Given the description of an element on the screen output the (x, y) to click on. 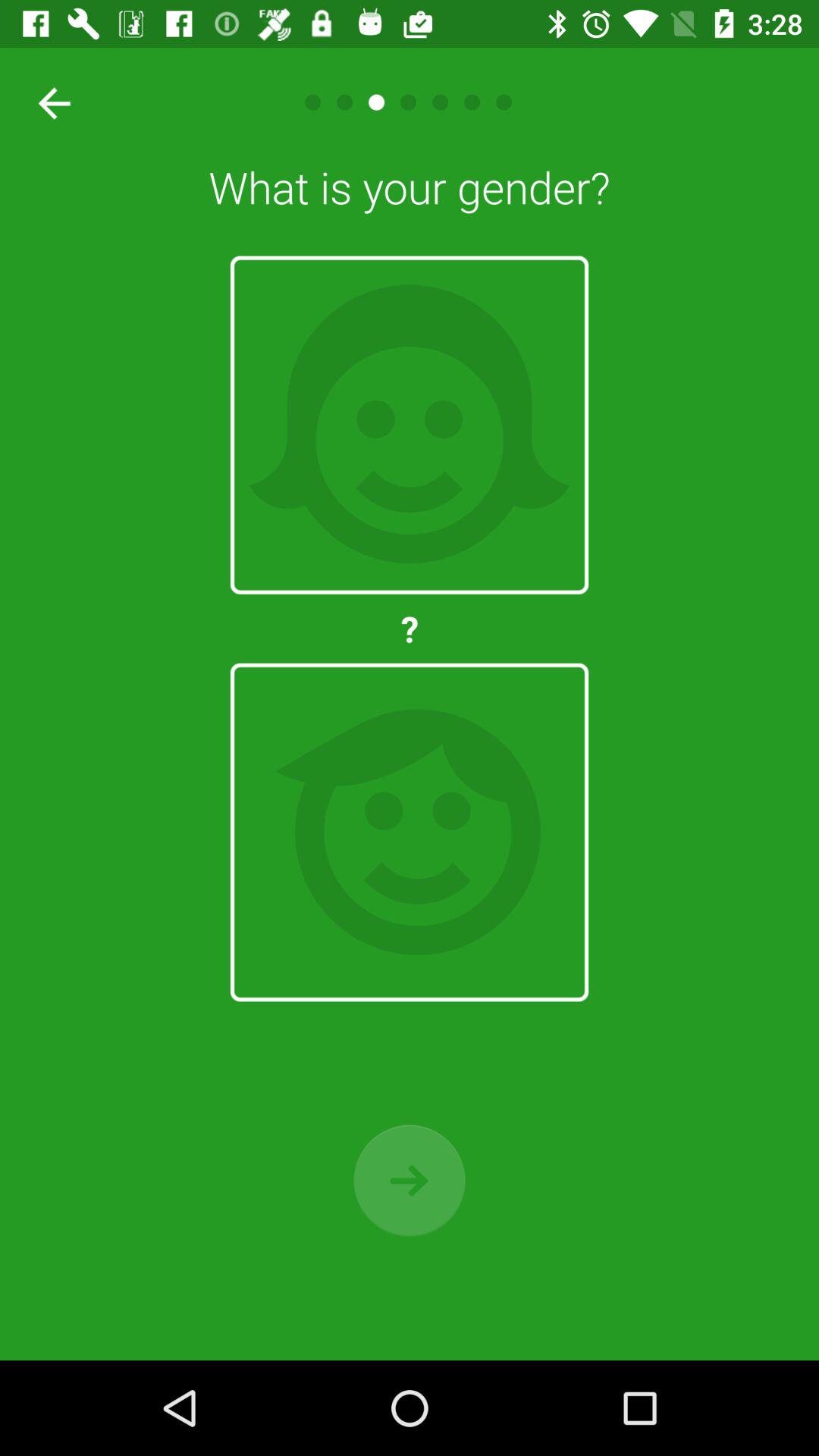
chose female gender (409, 424)
